Given the description of an element on the screen output the (x, y) to click on. 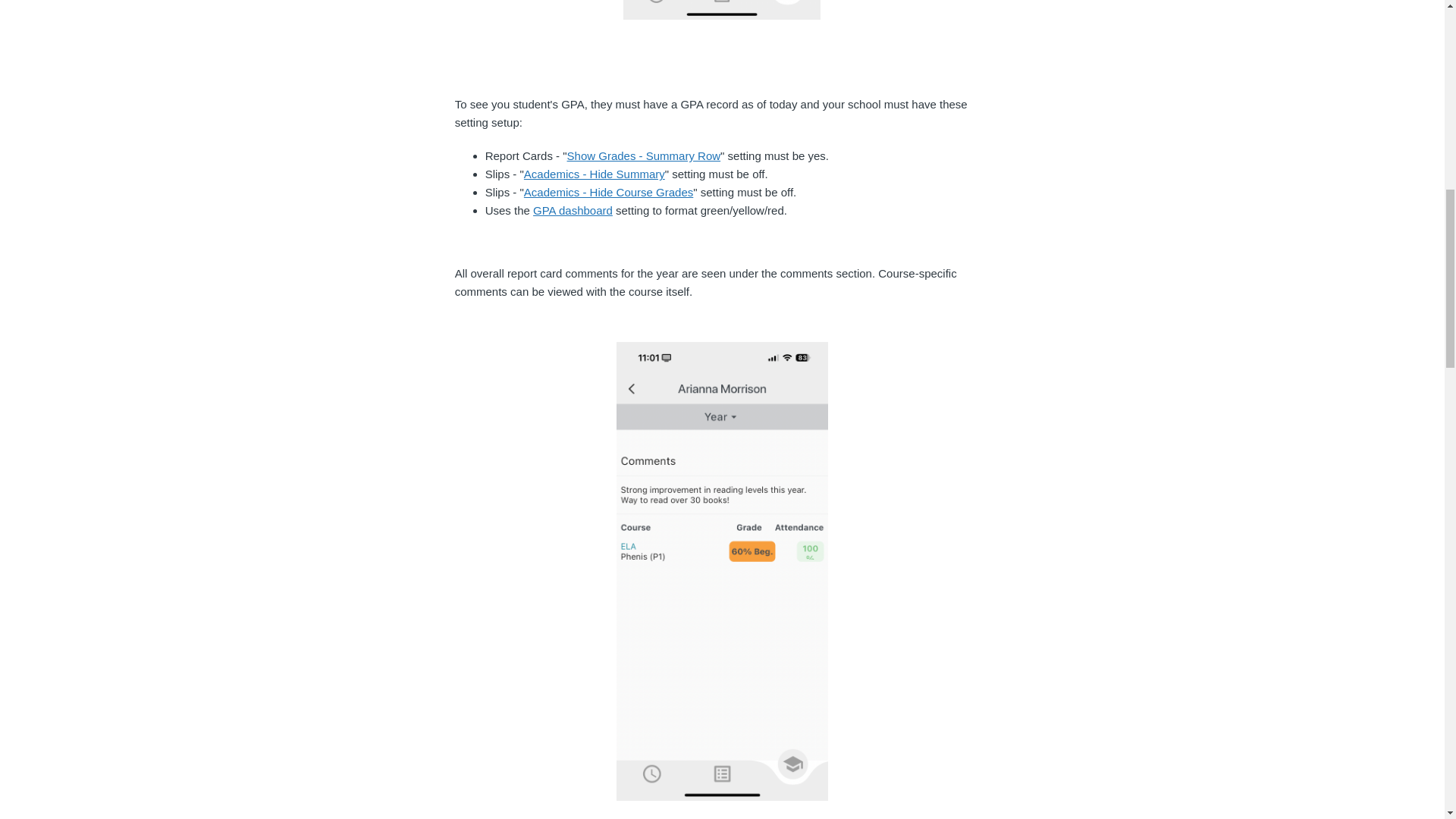
Academics - Hide Summary (594, 173)
Academics - Hide Course Grades (608, 192)
GPA dashboard (572, 210)
Show Grades - Summary Row (643, 155)
